Given the description of an element on the screen output the (x, y) to click on. 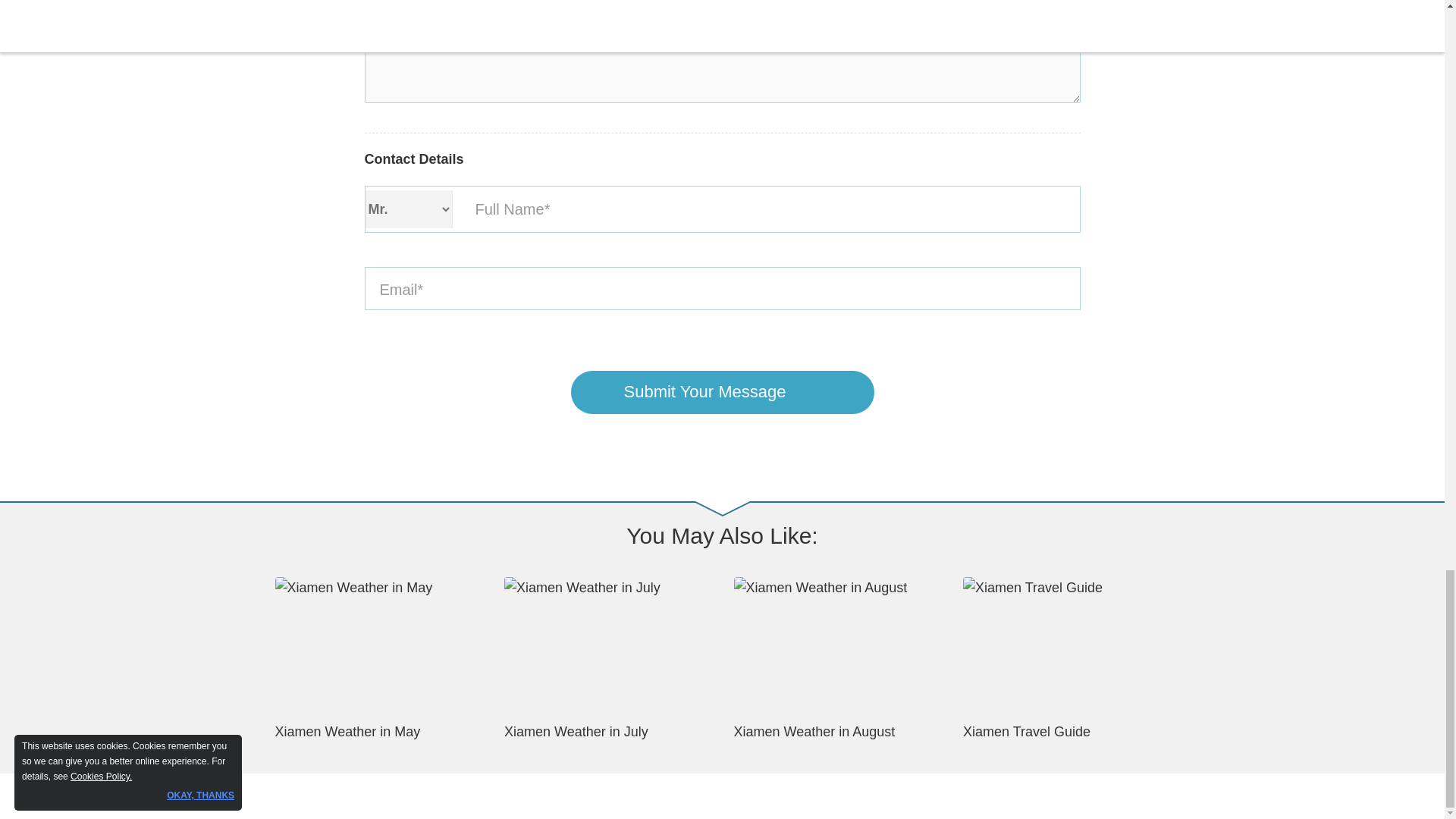
Xiamen Travel Guide (1066, 658)
Xiamen Weather in July (607, 658)
Submit Your Message (721, 392)
Xiamen Weather in May (378, 658)
Xiamen Weather in August (836, 658)
Submit Your Message (721, 392)
